Given the description of an element on the screen output the (x, y) to click on. 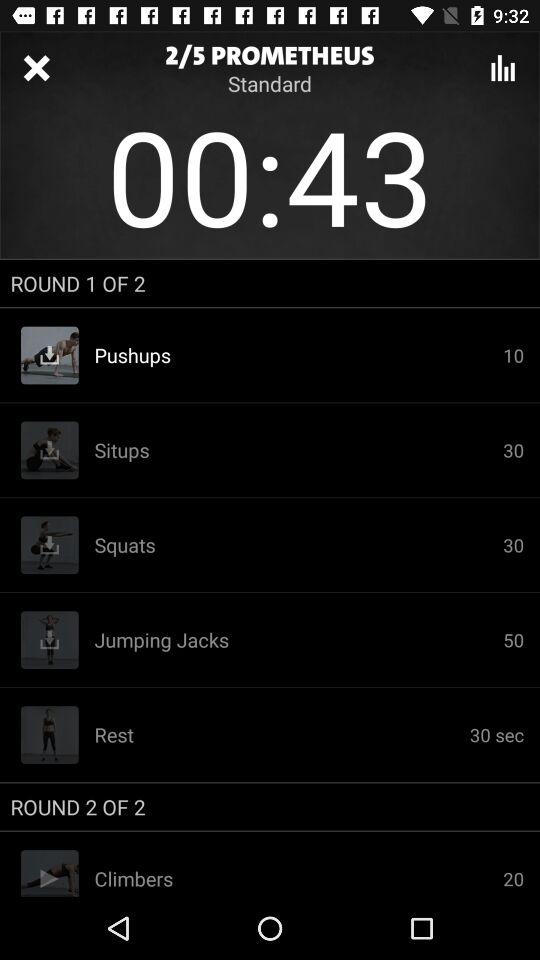
flip to the rest item (281, 734)
